Given the description of an element on the screen output the (x, y) to click on. 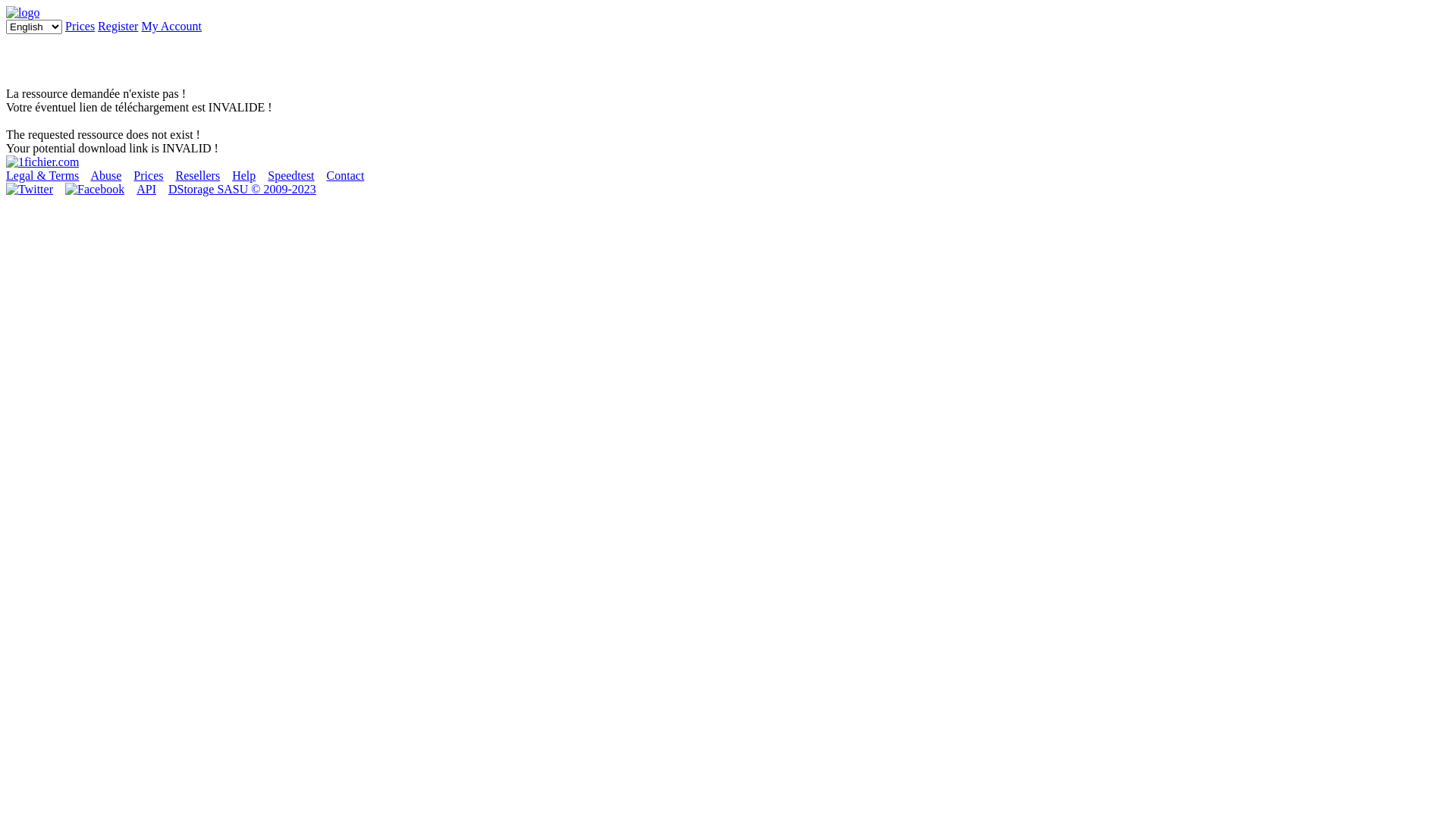
Help Element type: text (243, 175)
1fichier.com Element type: hover (22, 12)
Legal & Terms Element type: text (42, 175)
Resellers Element type: text (197, 175)
Back to home page Element type: hover (42, 161)
API Element type: text (146, 188)
My Account Element type: text (171, 25)
Contact Element type: text (345, 175)
Prices Element type: text (79, 25)
Prices Element type: text (148, 175)
Register Element type: text (117, 25)
Abuse Element type: text (105, 175)
Speedtest Element type: text (290, 175)
